Given the description of an element on the screen output the (x, y) to click on. 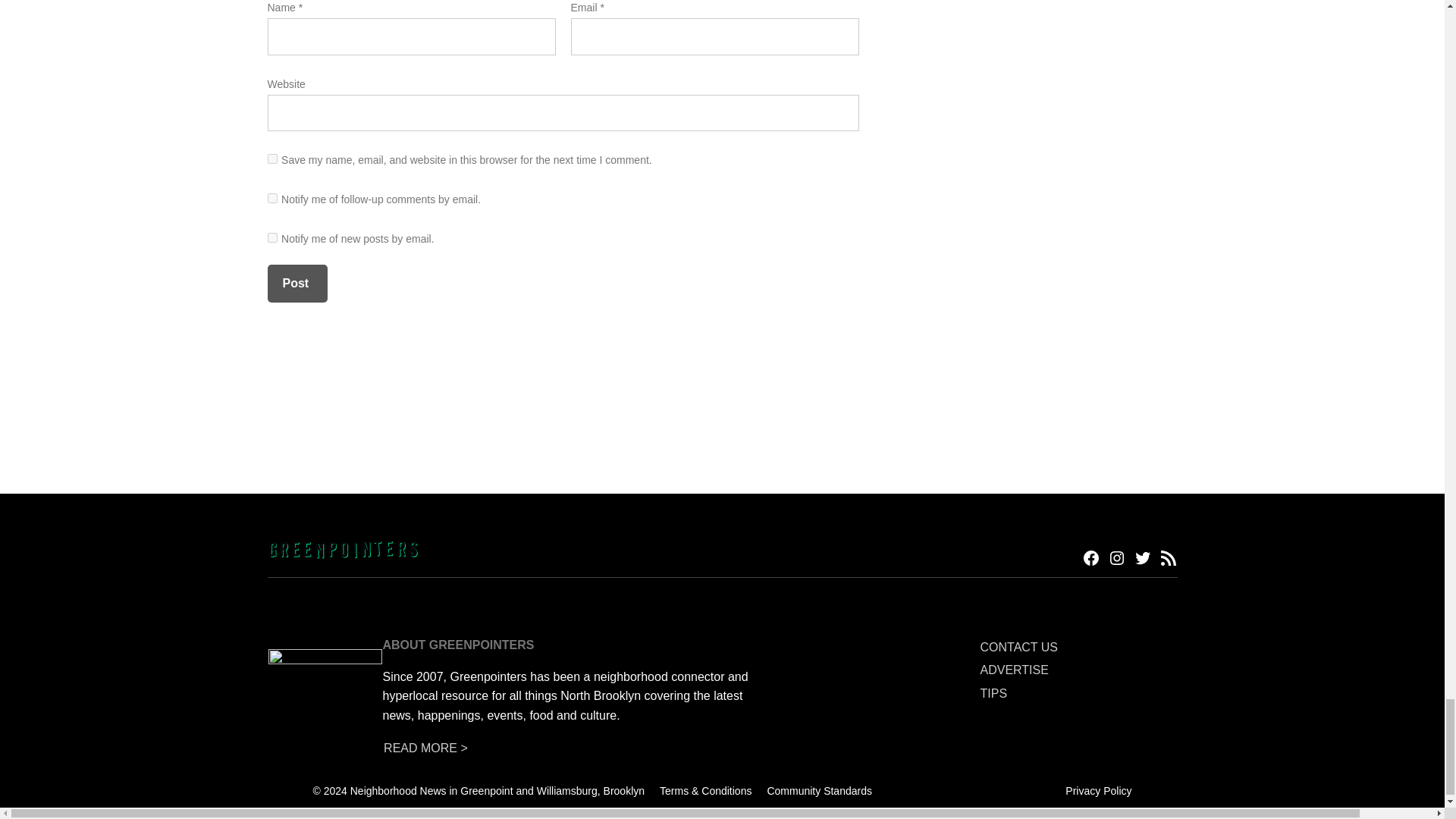
Post  (296, 283)
yes (271, 158)
subscribe (271, 198)
subscribe (271, 237)
